Given the description of an element on the screen output the (x, y) to click on. 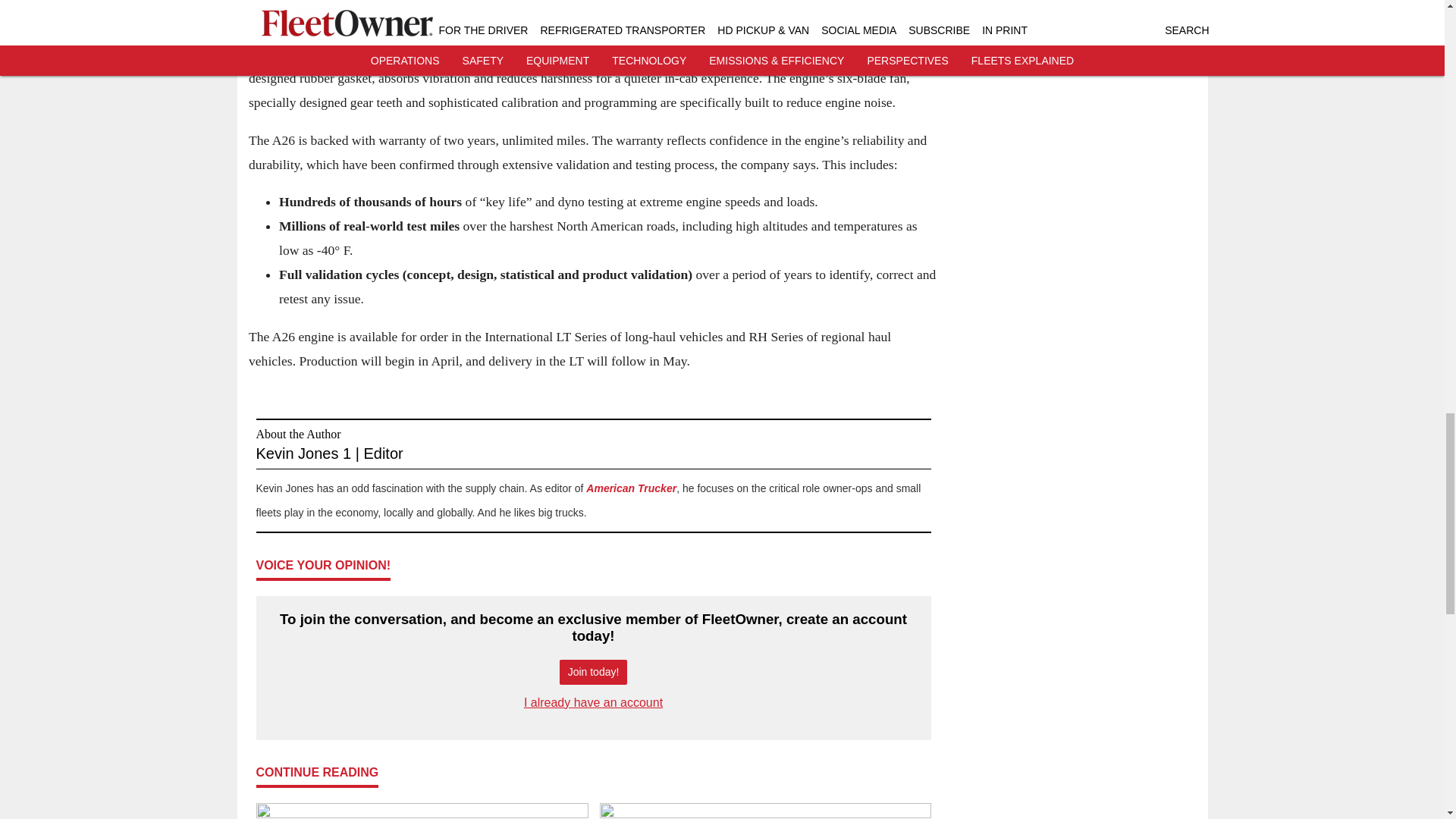
Join today! (593, 672)
American Trucker (631, 488)
I already have an account (593, 702)
